Given the description of an element on the screen output the (x, y) to click on. 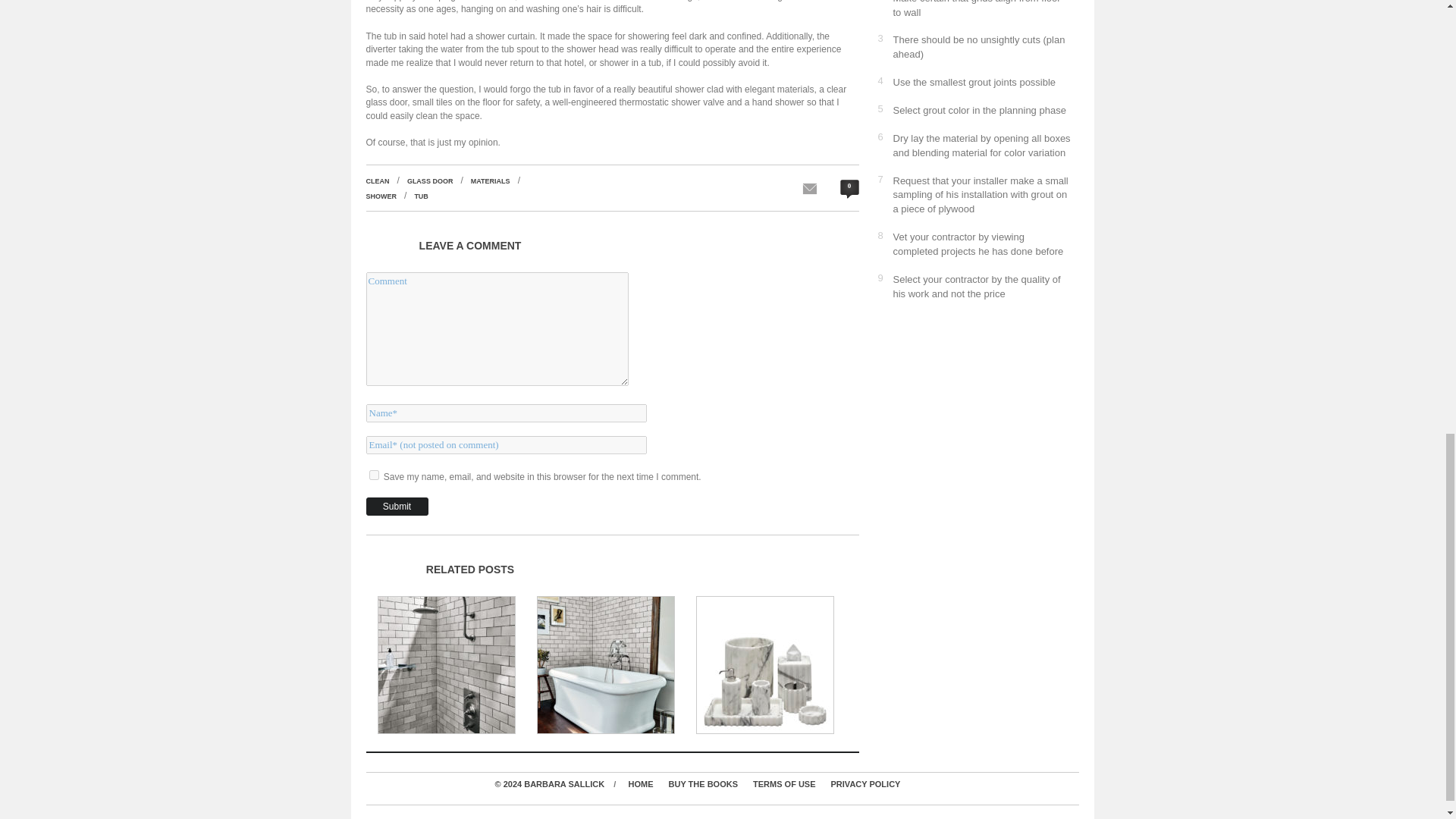
yes (373, 474)
Submit (396, 506)
